Given the description of an element on the screen output the (x, y) to click on. 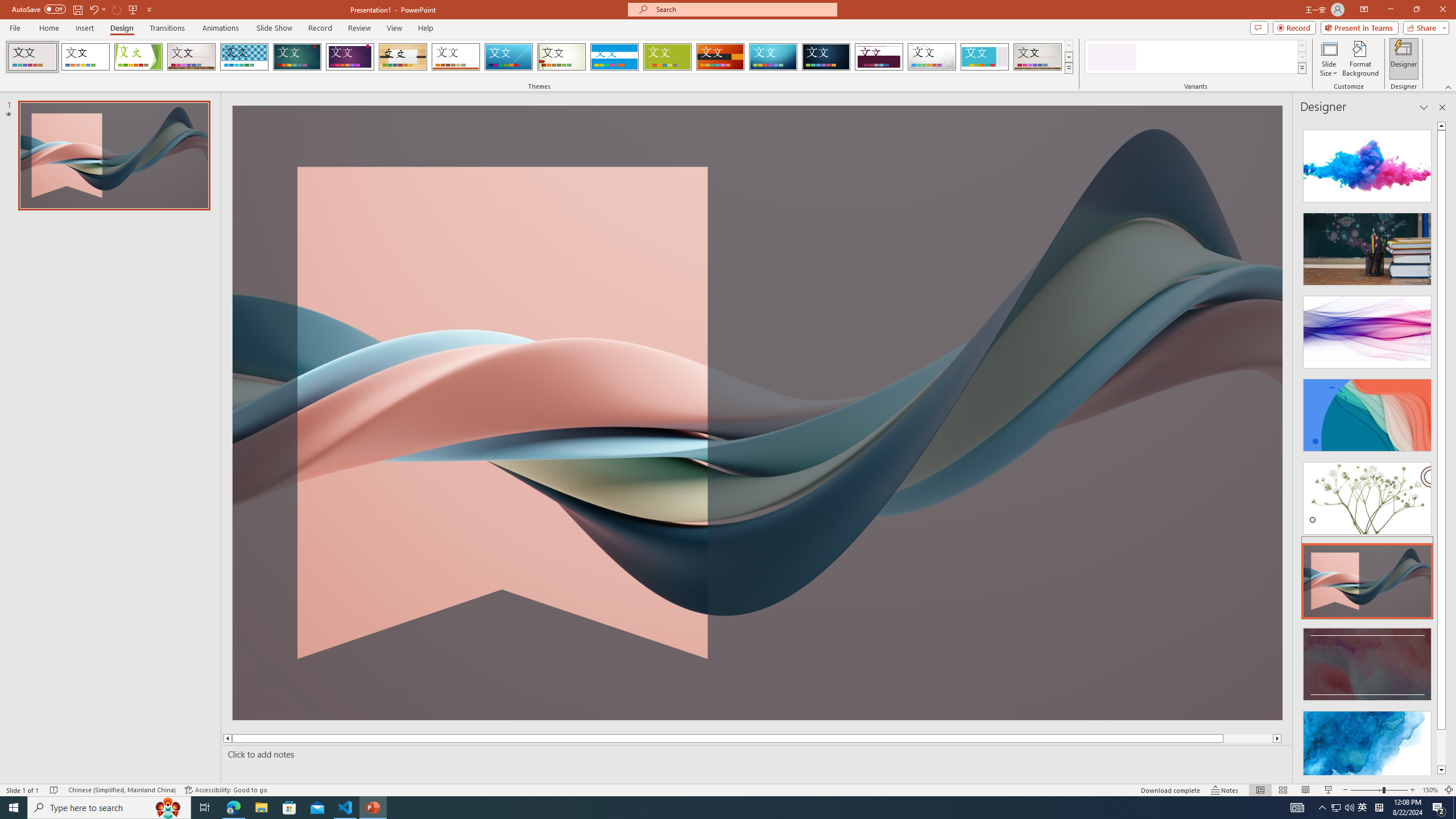
Download complete  (1171, 790)
Retrospect (455, 56)
Decorative Locked (757, 412)
Slide Size (1328, 58)
Class: NetUIScrollBar (1441, 447)
Wisp (561, 56)
Zoom 150% (1430, 790)
Facet (138, 56)
